Given the description of an element on the screen output the (x, y) to click on. 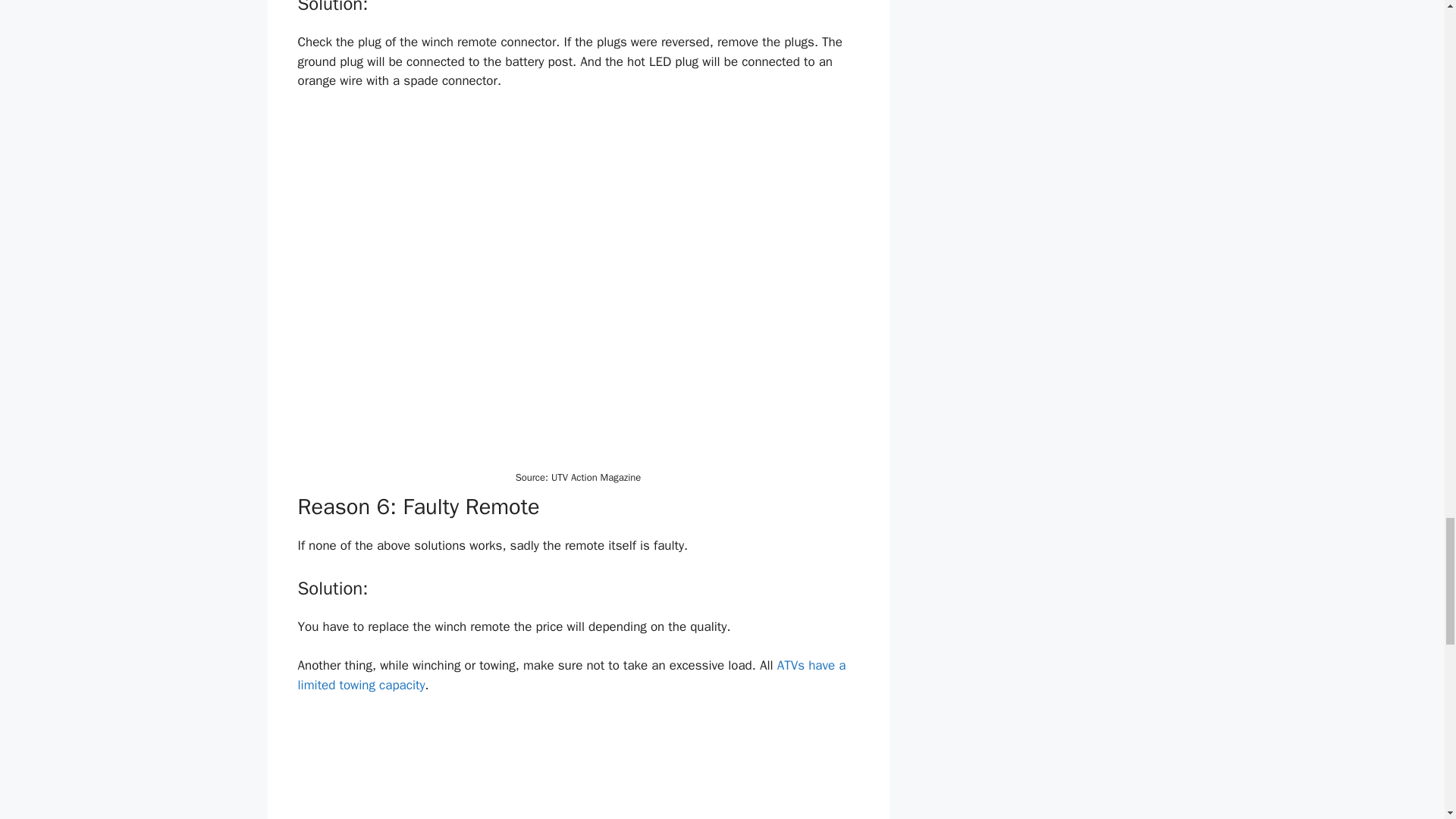
ATVs have a limited towing capacity (571, 674)
